Given the description of an element on the screen output the (x, y) to click on. 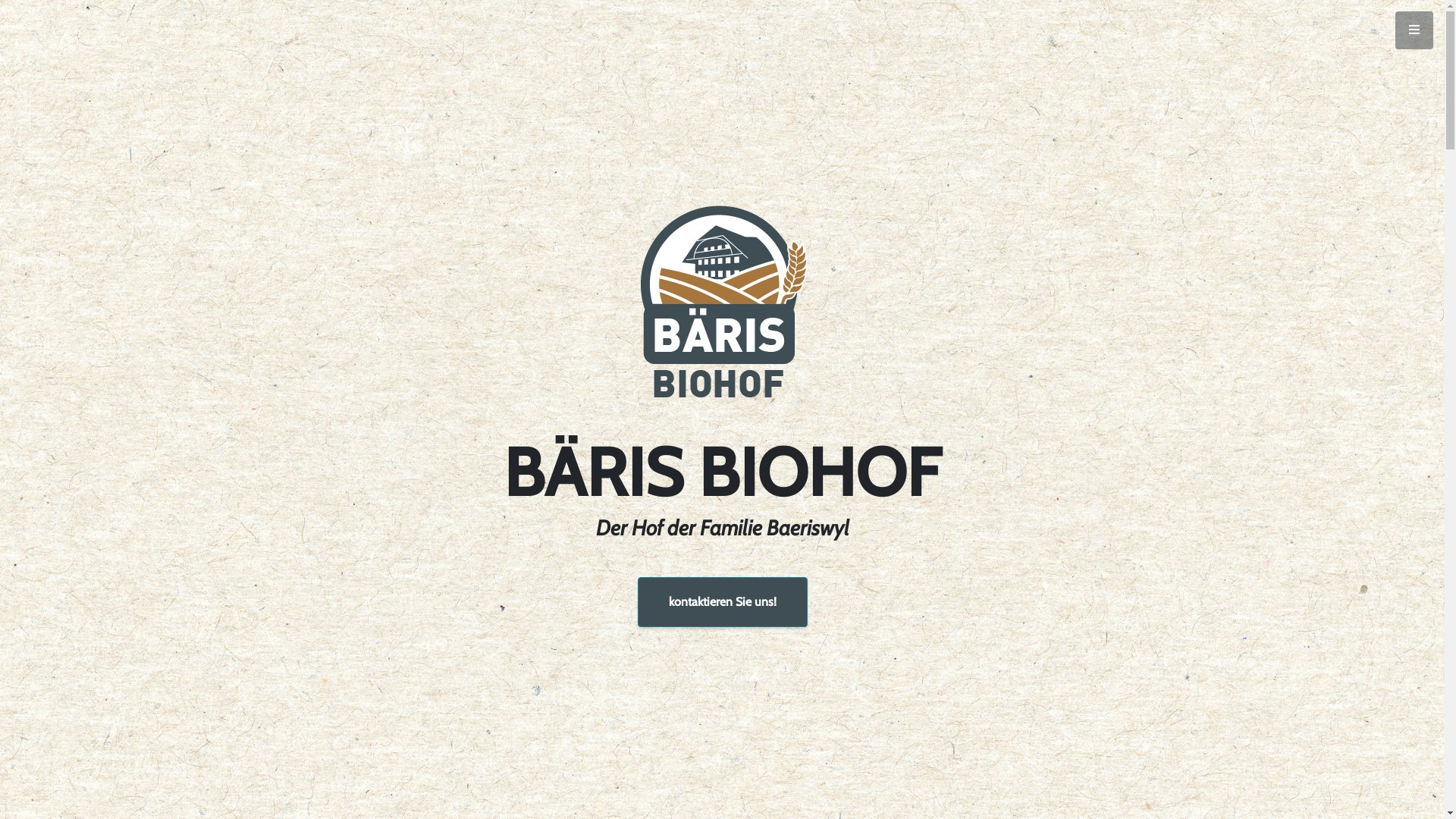
kontaktieren Sie uns! Element type: text (721, 602)
